Given the description of an element on the screen output the (x, y) to click on. 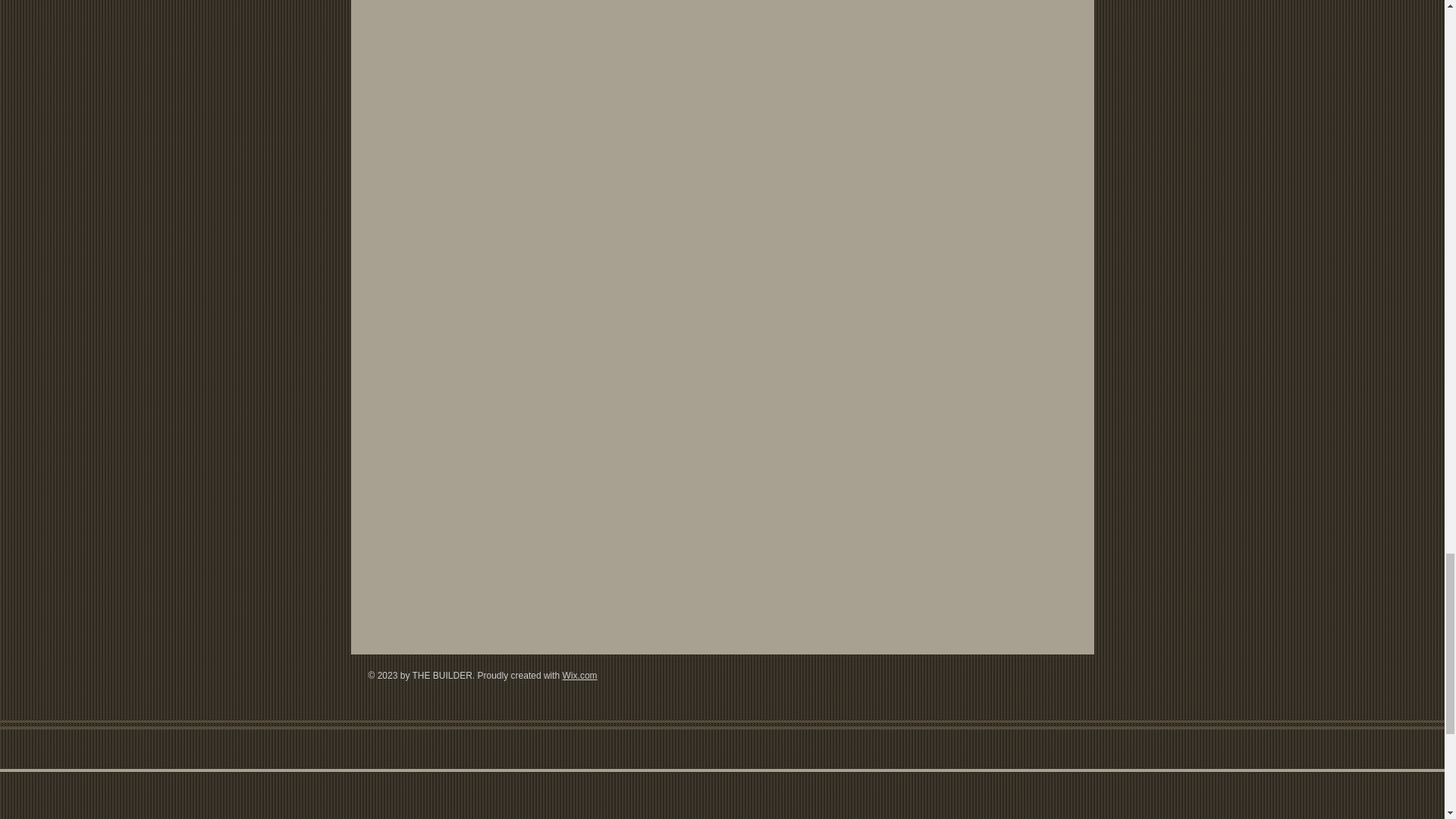
Wix.com (579, 675)
